Given the description of an element on the screen output the (x, y) to click on. 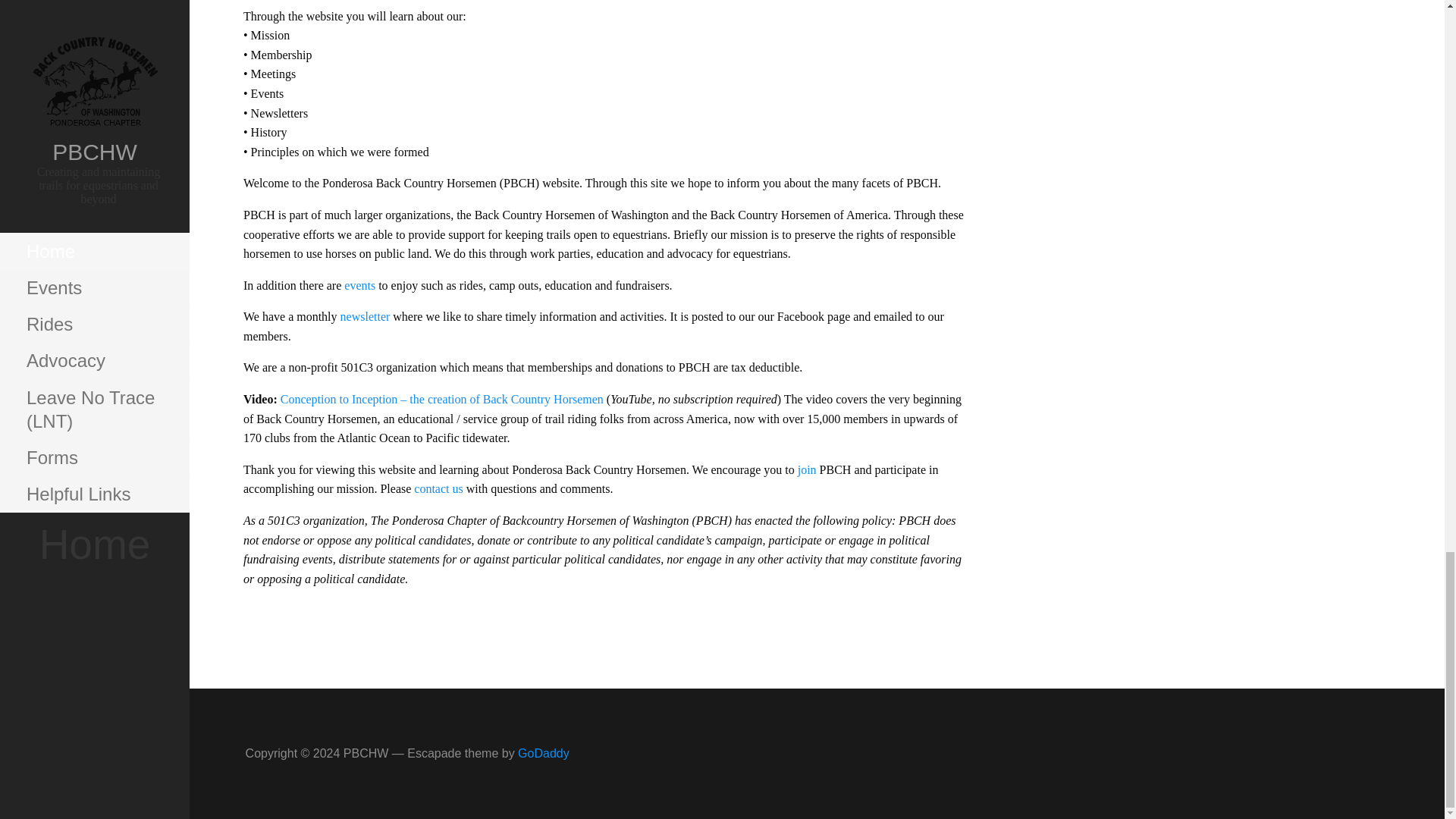
events (360, 285)
GoDaddy (543, 753)
newsletter (366, 316)
contact us (438, 488)
join (808, 469)
